Given the description of an element on the screen output the (x, y) to click on. 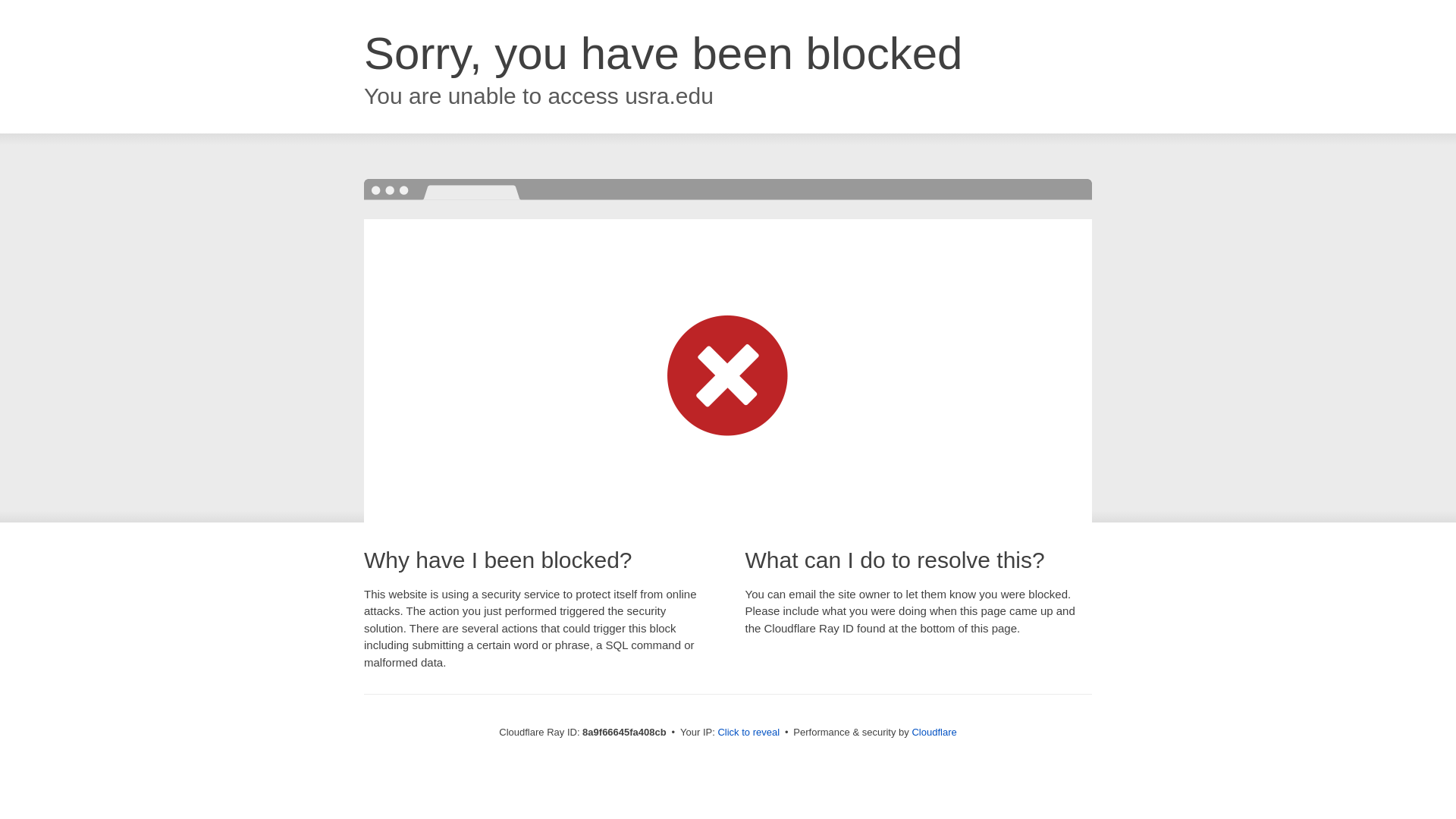
Click to reveal (747, 732)
Cloudflare (933, 731)
